Given the description of an element on the screen output the (x, y) to click on. 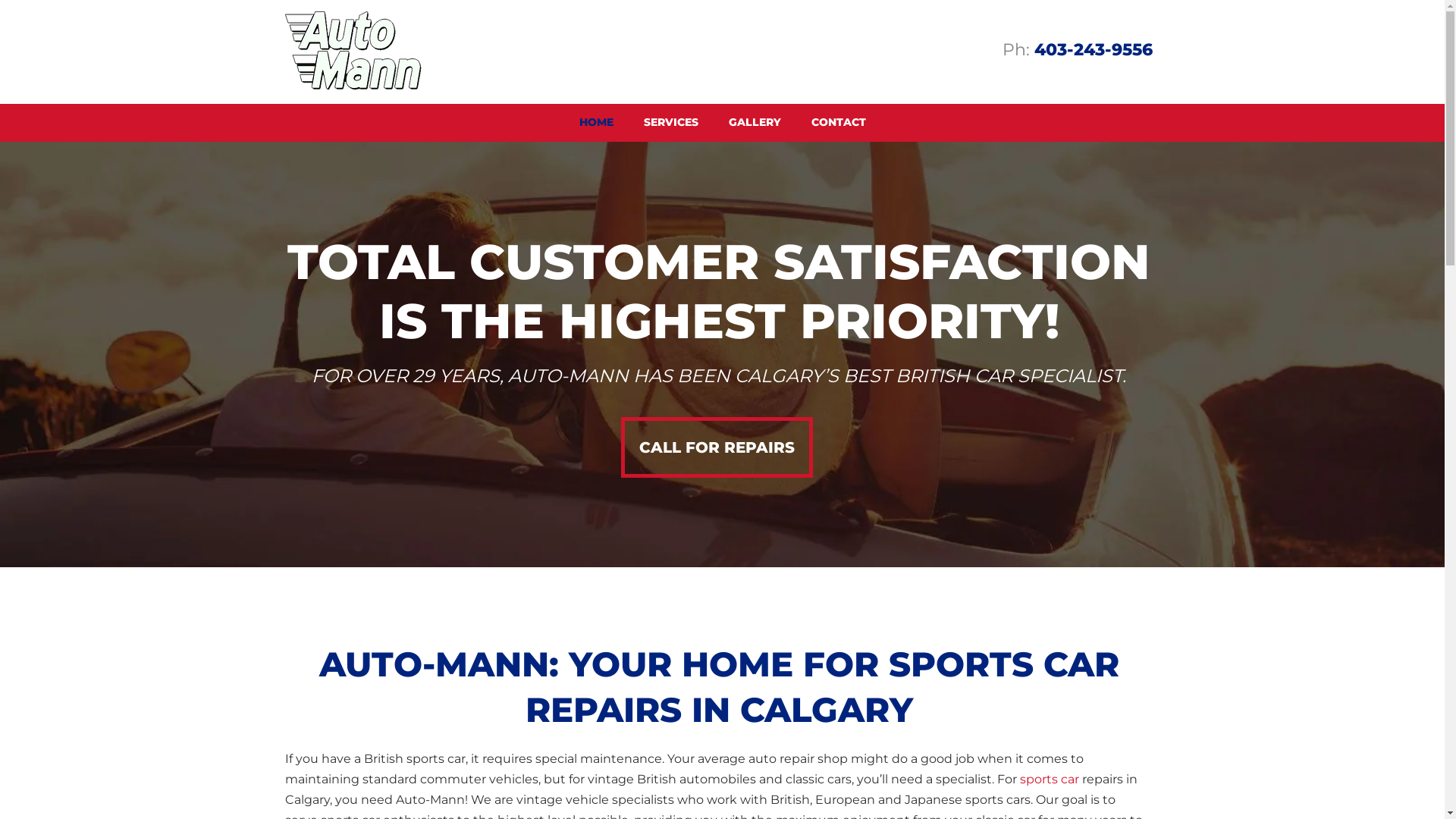
GALLERY Element type: text (753, 122)
CONTACT Element type: text (838, 122)
CALL FOR REPAIRS Element type: text (716, 447)
403-243-9556 Element type: text (1093, 52)
HOME Element type: text (596, 122)
sports car Element type: text (1048, 780)
SERVICES Element type: text (669, 122)
